Given the description of an element on the screen output the (x, y) to click on. 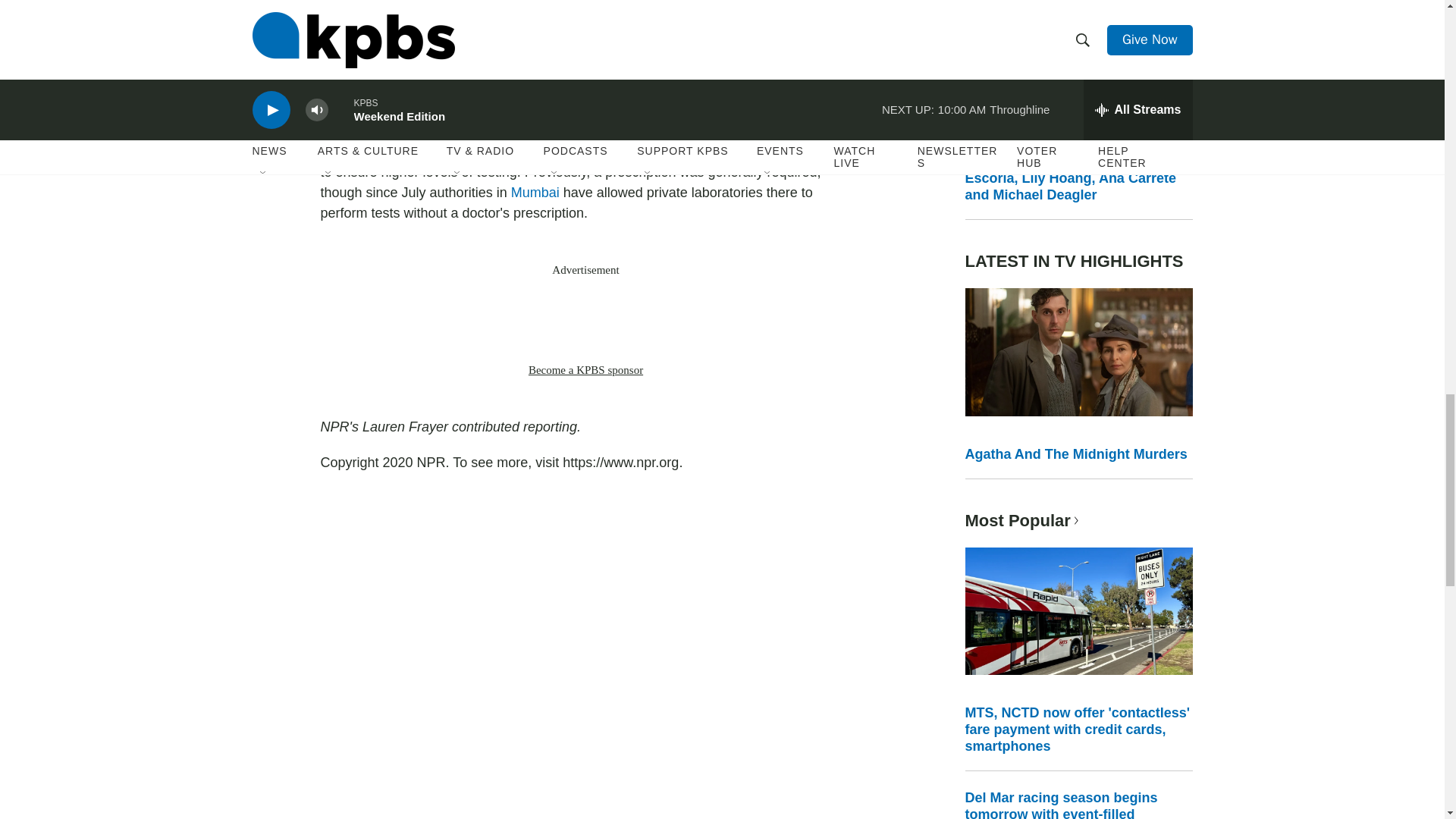
3rd party ad content (584, 319)
